Given the description of an element on the screen output the (x, y) to click on. 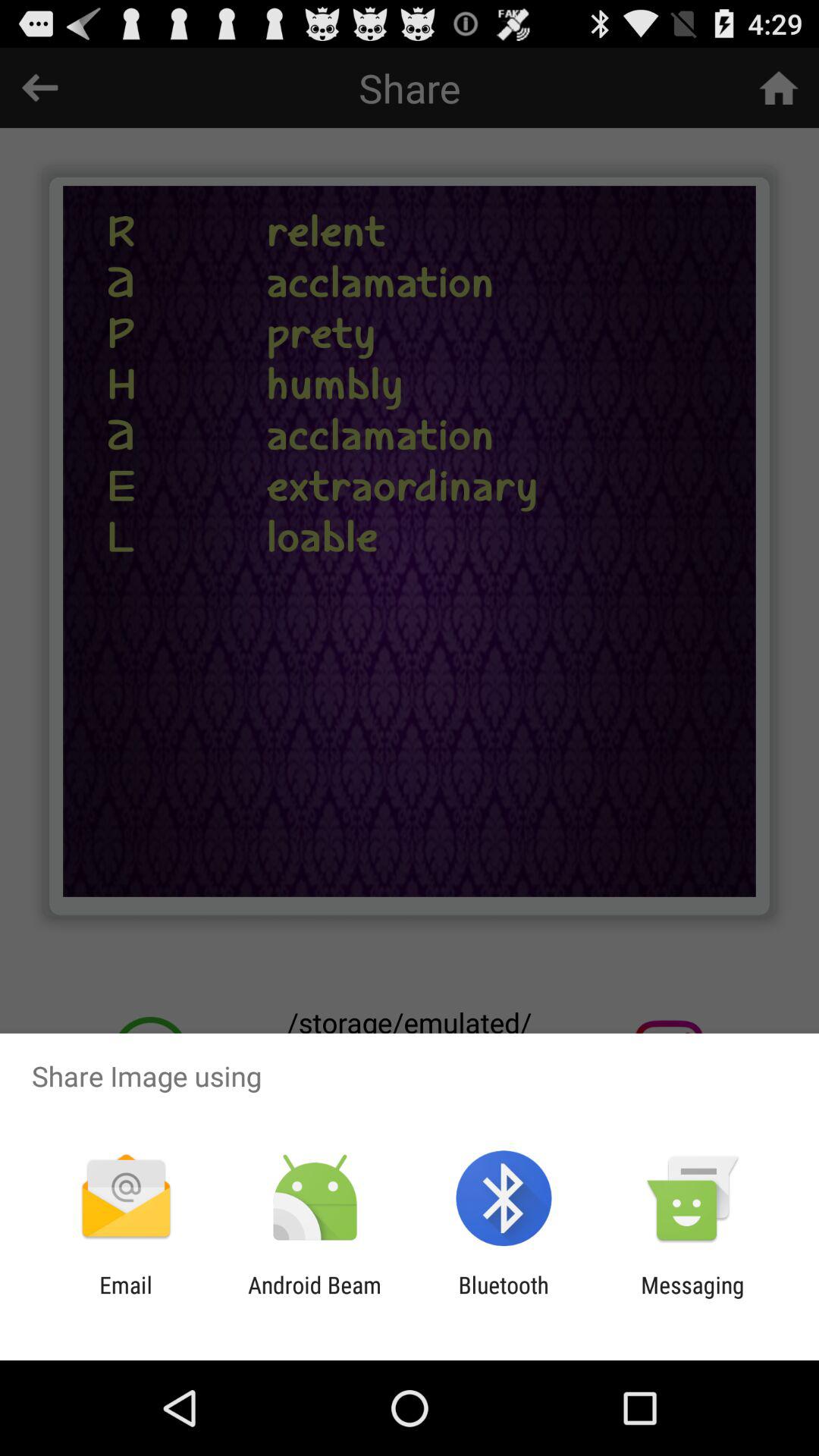
turn off item next to the bluetooth app (692, 1298)
